Given the description of an element on the screen output the (x, y) to click on. 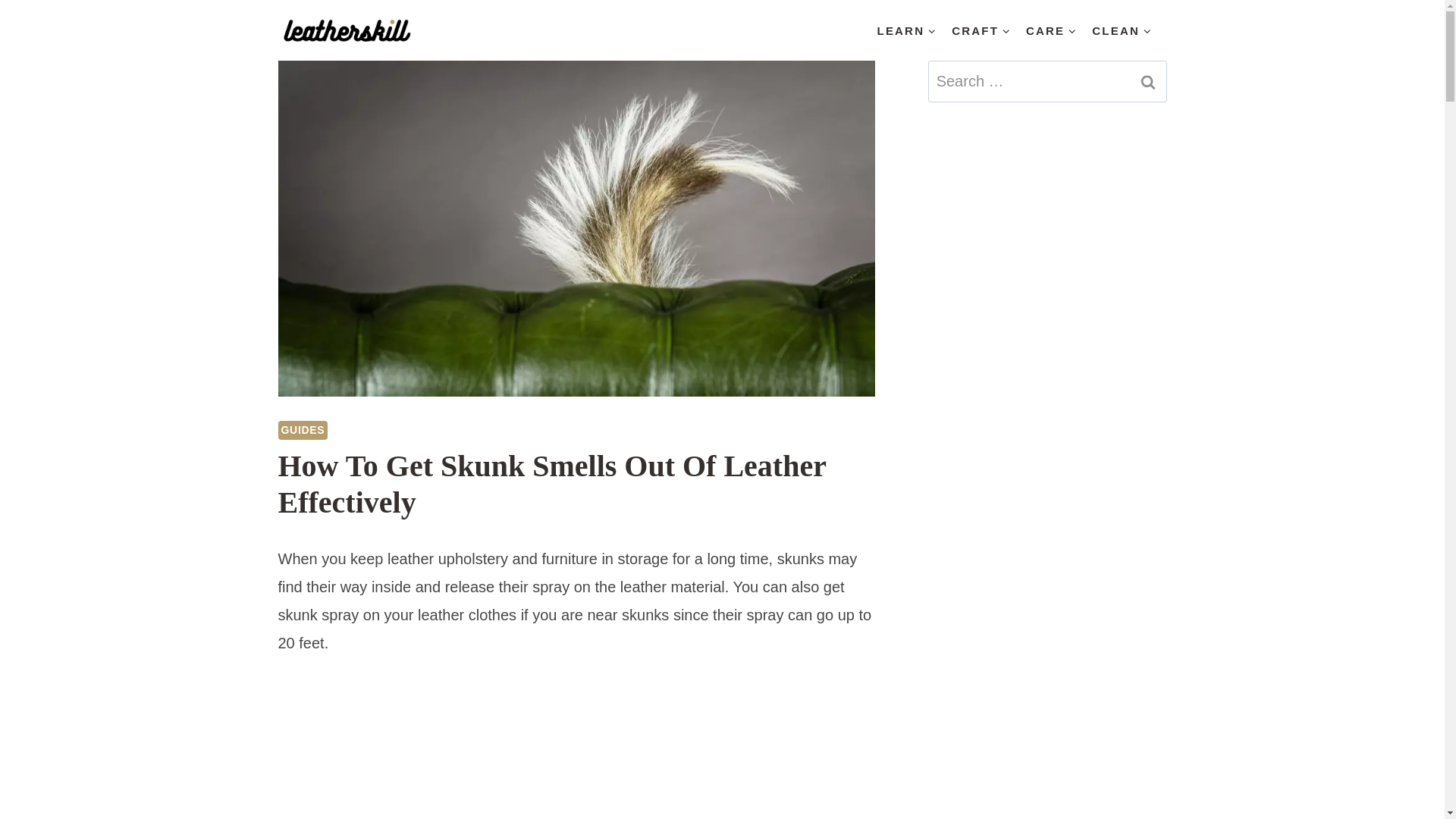
Search (1147, 81)
LEARN (906, 30)
GUIDES (302, 429)
CARE (1050, 30)
CLEAN (1121, 30)
CRAFT (980, 30)
Search (1147, 81)
